Given the description of an element on the screen output the (x, y) to click on. 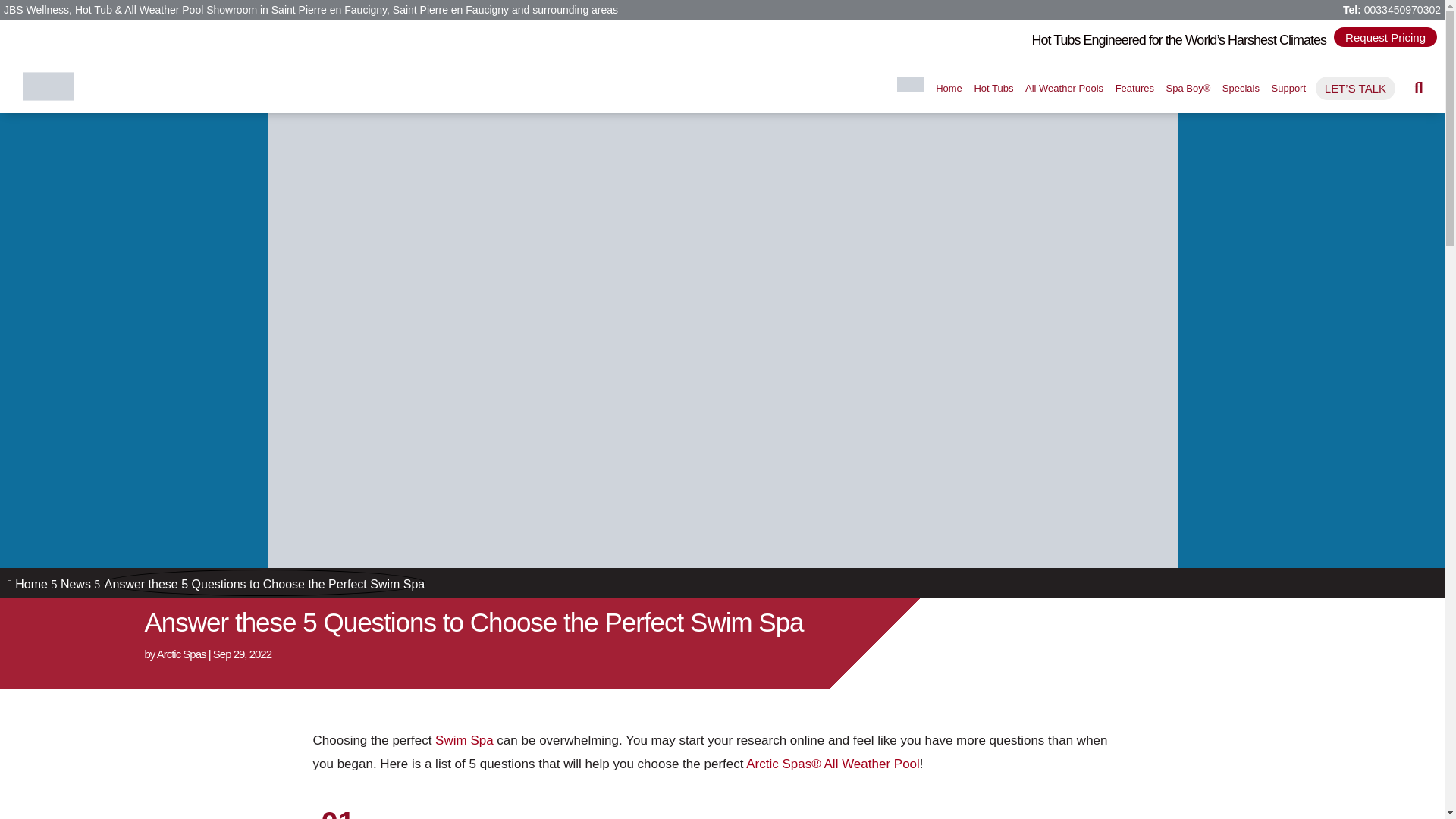
Features (1133, 88)
Choose Your Location (909, 88)
Home (948, 88)
0033450970302 (1402, 9)
Hot Tubs (992, 88)
Choose Your Location (910, 83)
All Weather Pools (1064, 88)
Request Pricing (1385, 36)
Return to the home page (948, 88)
Specials (1240, 88)
Support (1287, 88)
